Given the description of an element on the screen output the (x, y) to click on. 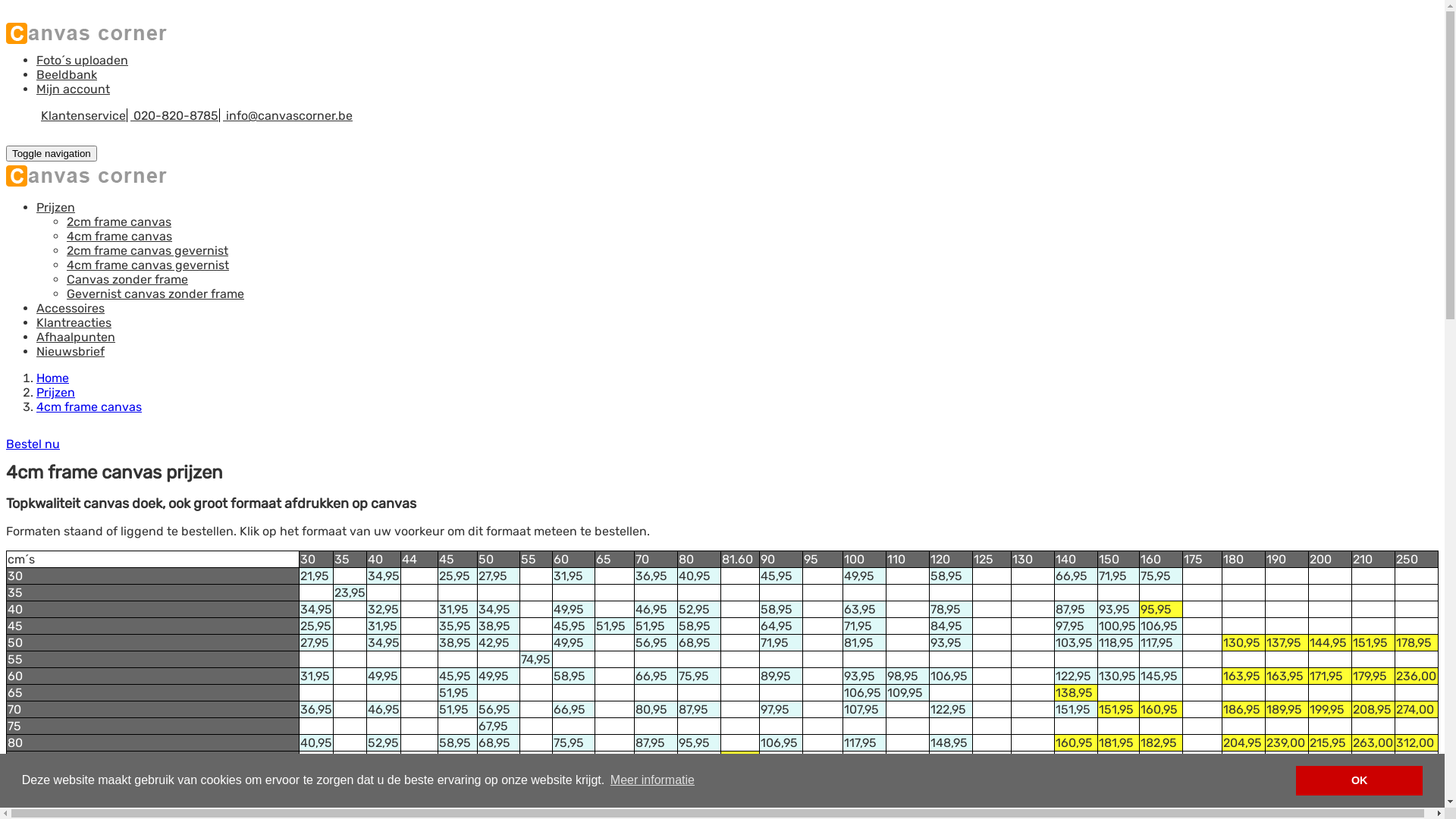
Nieuwsbrief Element type: text (70, 351)
020-820-8785 Element type: text (174, 115)
Beeldbank Element type: text (66, 74)
Afhaalpunten Element type: text (75, 336)
Accessoires Element type: text (70, 308)
info@canvascorner.be Element type: text (287, 115)
Bestel nu Element type: text (32, 443)
Klantenservice Element type: text (82, 115)
Mijn account Element type: text (72, 88)
Gevernist canvas zonder frame Element type: text (155, 293)
4cm frame canvas Element type: text (119, 236)
Klantreacties Element type: text (73, 322)
2cm frame canvas Element type: text (118, 221)
Toggle navigation Element type: text (51, 153)
Prijzen Element type: text (55, 207)
Prijzen Element type: text (55, 392)
4cm frame canvas Element type: text (88, 406)
Home Element type: text (52, 377)
4cm frame canvas gevernist Element type: text (147, 264)
Meer informatie Element type: text (652, 779)
OK Element type: text (1358, 780)
Canvas zonder frame Element type: text (127, 279)
2cm frame canvas gevernist Element type: text (147, 250)
